Given the description of an element on the screen output the (x, y) to click on. 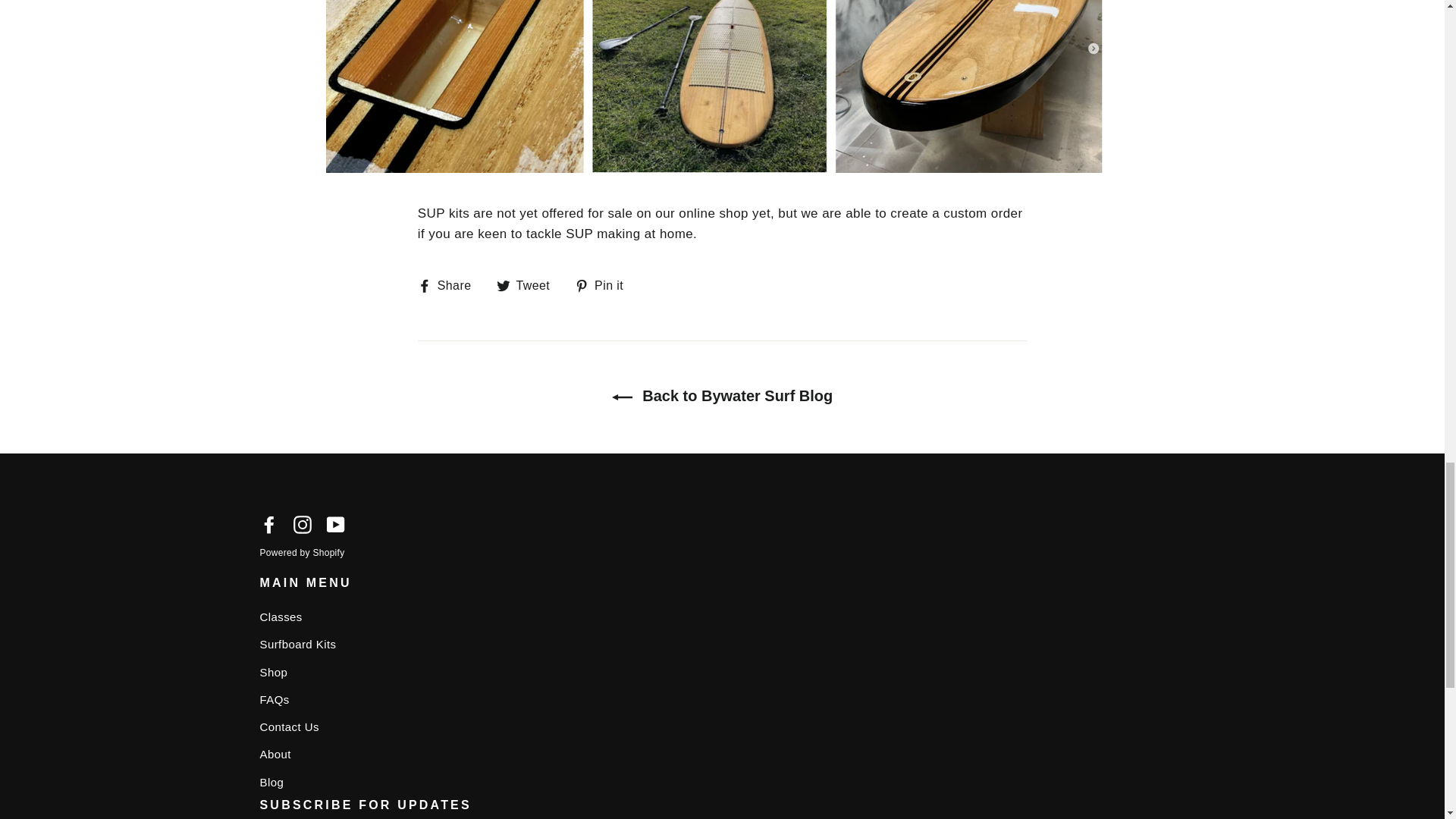
Tweet on Twitter (529, 285)
Pin on Pinterest (604, 285)
Wooden Surfboard from Bywater Surf on Instagram (302, 524)
Share on Facebook (450, 285)
